Given the description of an element on the screen output the (x, y) to click on. 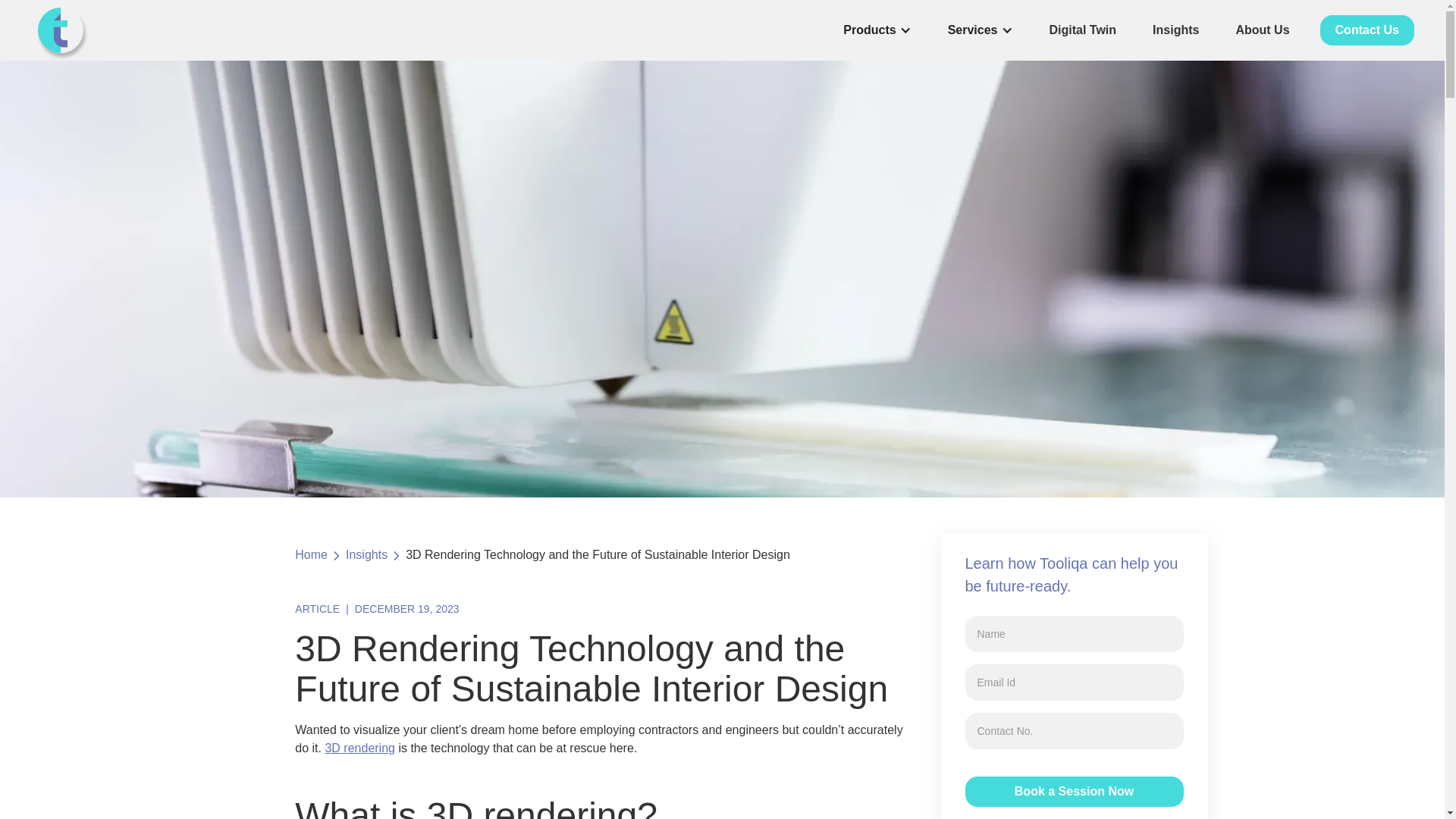
Home (311, 555)
Products (869, 30)
Insights (366, 555)
Insights (1175, 30)
Services (972, 30)
Contact Us (1366, 30)
Digital Twin (1082, 30)
3D rendering (359, 748)
Book a Session Now (1072, 791)
About Us (1262, 30)
